Given the description of an element on the screen output the (x, y) to click on. 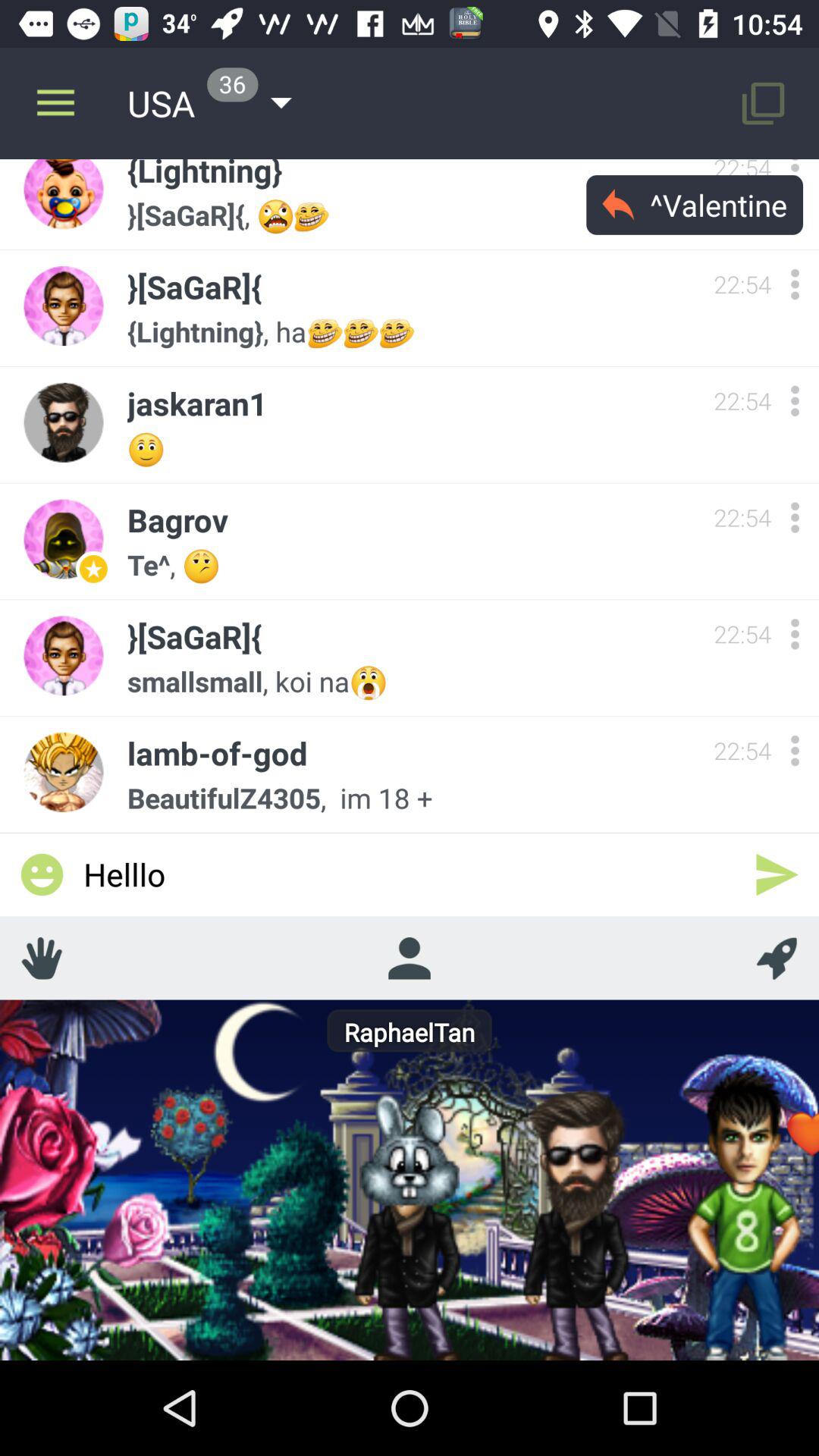
show more options (795, 634)
